Given the description of an element on the screen output the (x, y) to click on. 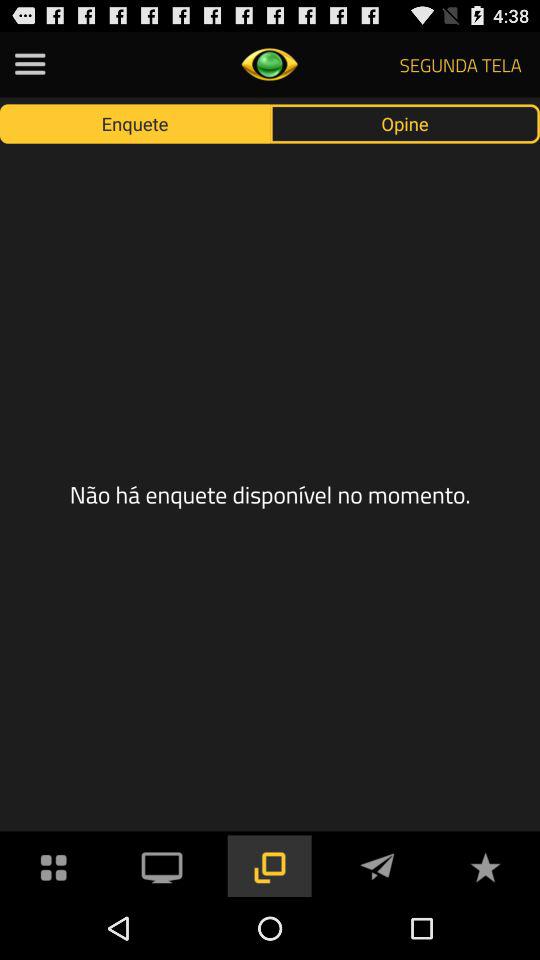
click the icon above the enquete (29, 64)
